Given the description of an element on the screen output the (x, y) to click on. 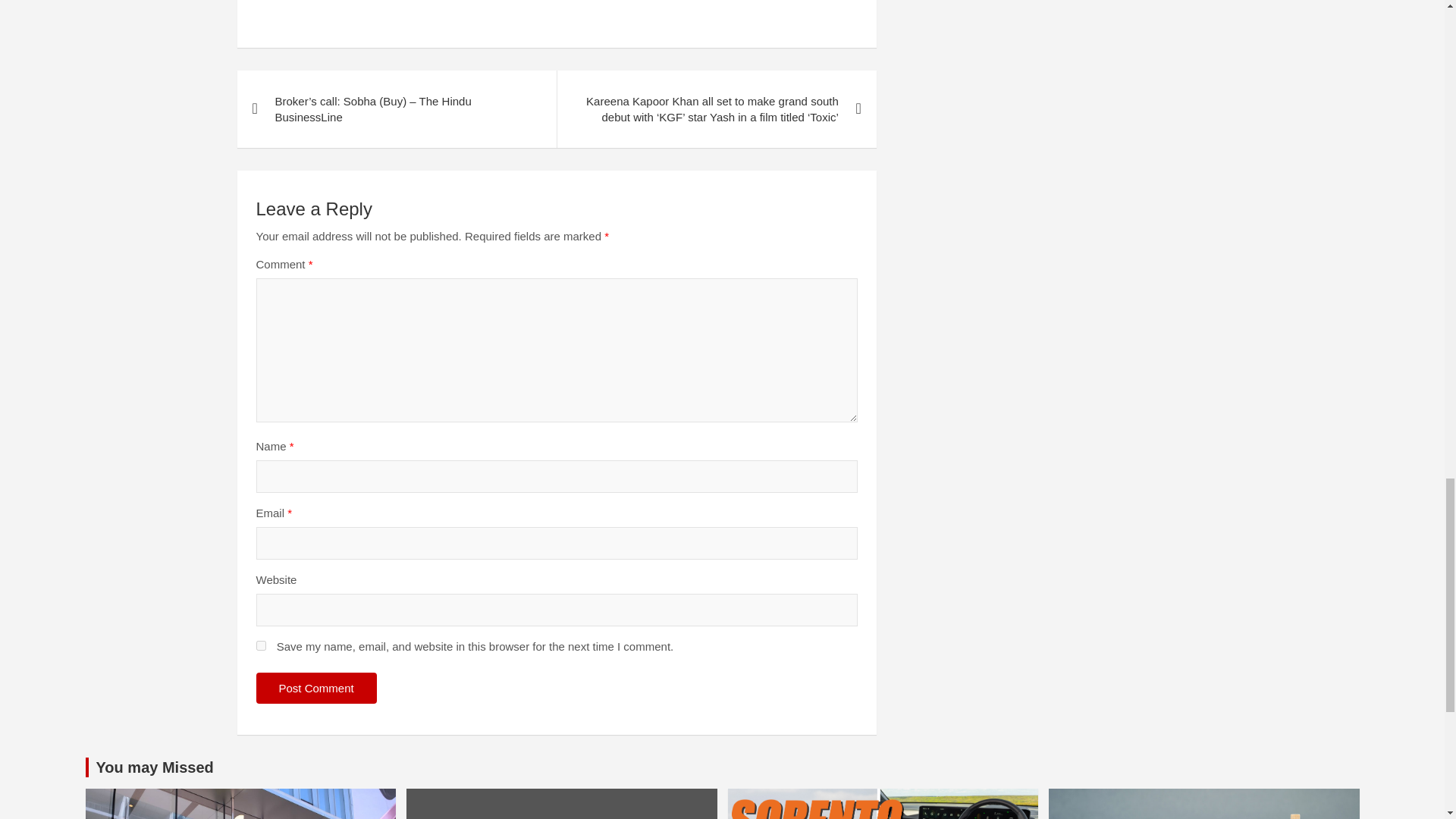
Post Comment (316, 687)
yes (261, 645)
Post Comment (316, 687)
